Given the description of an element on the screen output the (x, y) to click on. 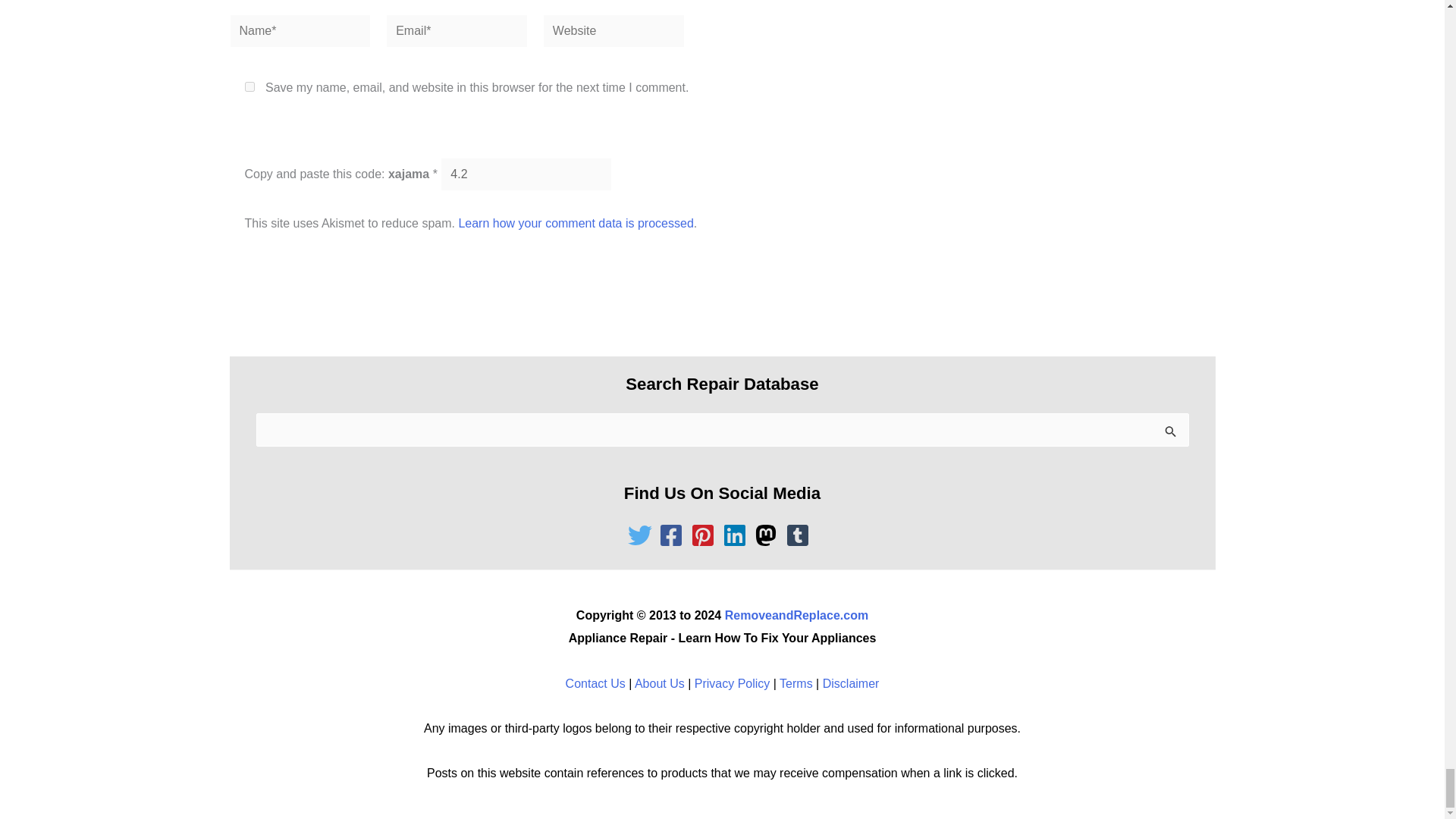
4.2 (526, 174)
Search (1171, 434)
yes (248, 86)
Search (1171, 434)
